Given the description of an element on the screen output the (x, y) to click on. 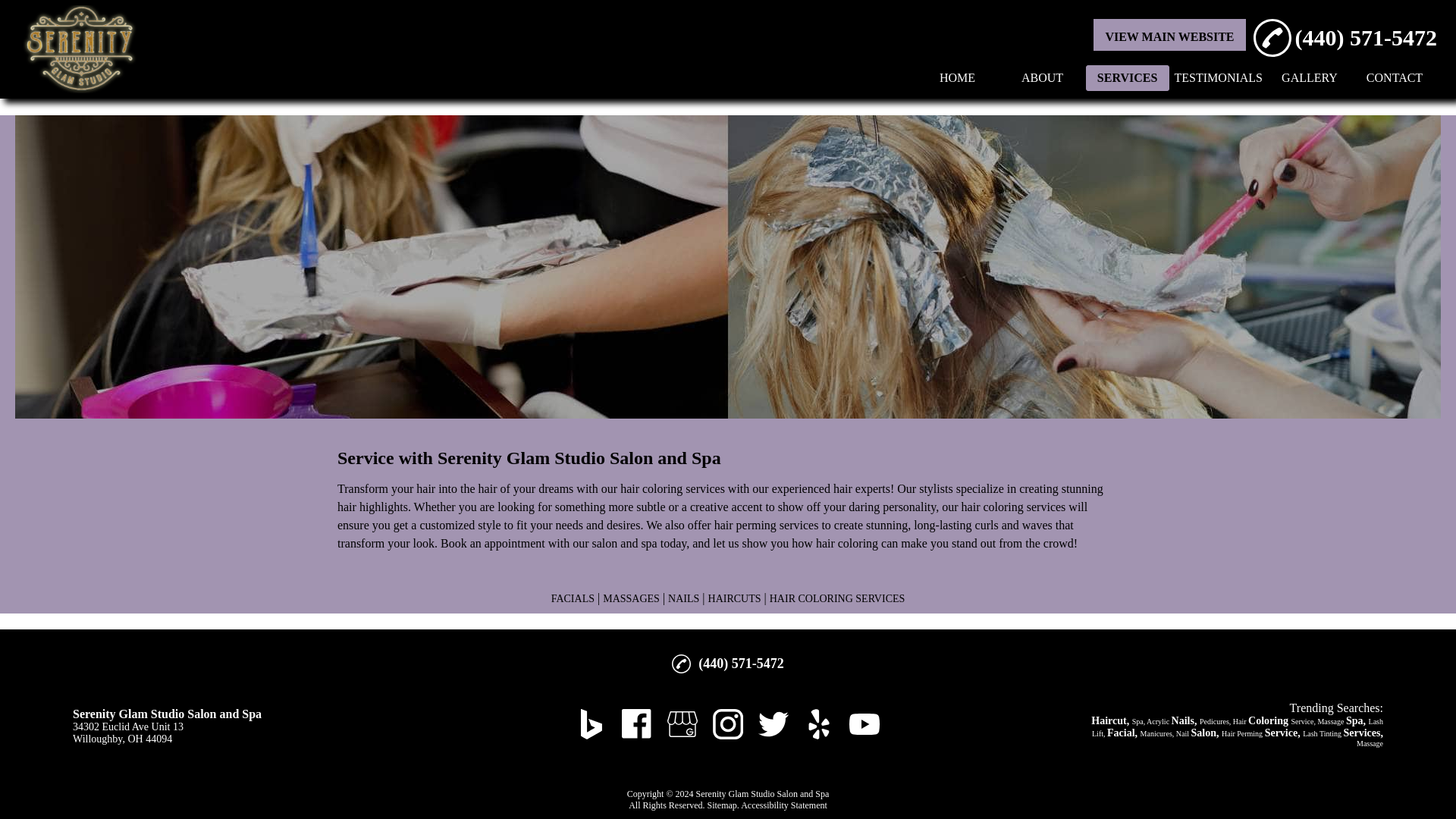
NAILS (683, 598)
GALLERY (1309, 77)
FACIALS (572, 598)
HAIR COLORING SERVICES (837, 598)
ABOUT (1042, 77)
VIEW MAIN WEBSITE (1169, 36)
TESTIMONIALS (1218, 77)
HAIRCUTS (734, 598)
hair coloring service (670, 488)
HOME (956, 77)
